Given the description of an element on the screen output the (x, y) to click on. 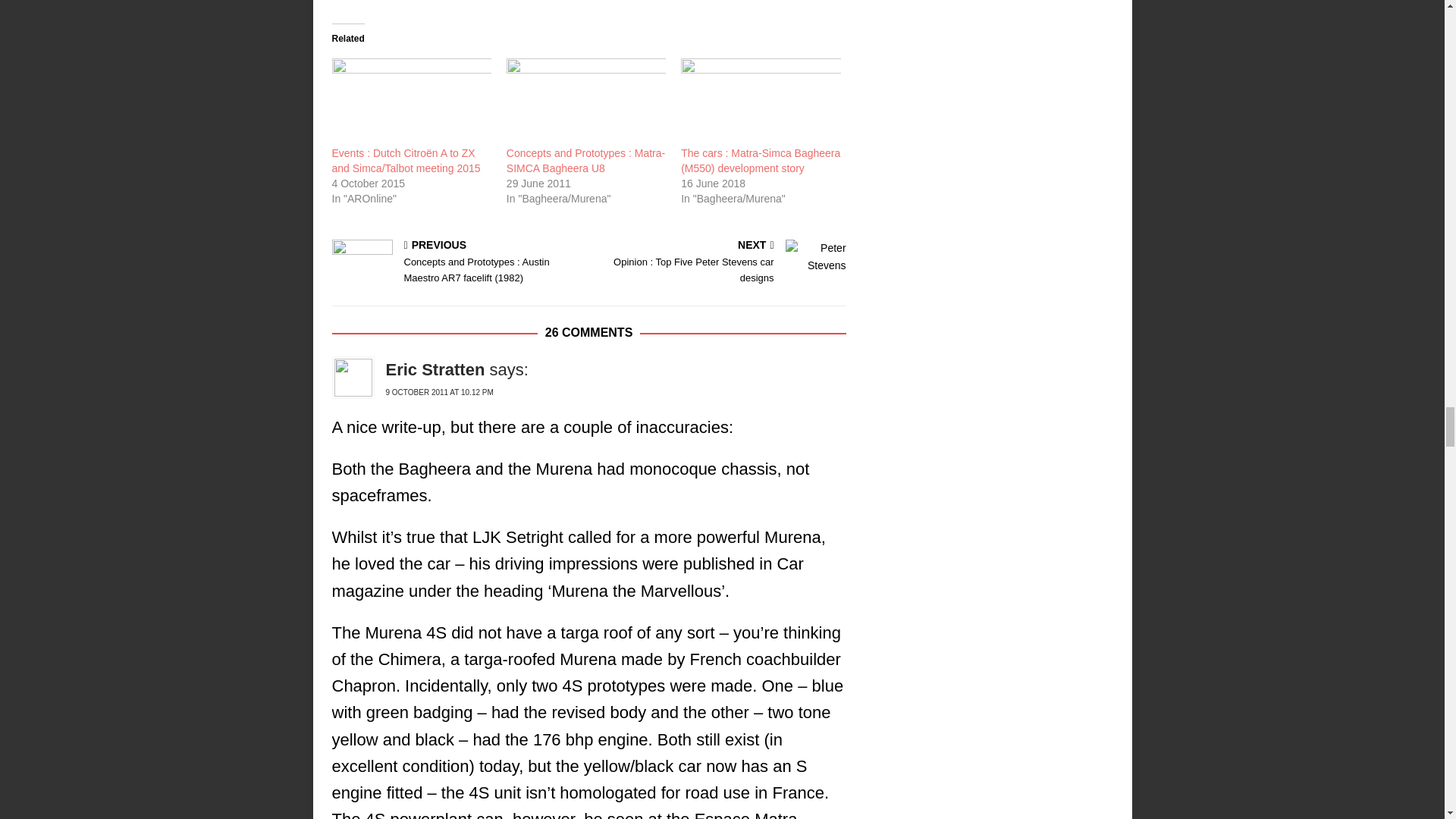
Concepts and Prototypes : Matra-SIMCA Bagheera U8 (585, 99)
Concepts and Prototypes : Matra-SIMCA Bagheera U8 (585, 160)
